Given the description of an element on the screen output the (x, y) to click on. 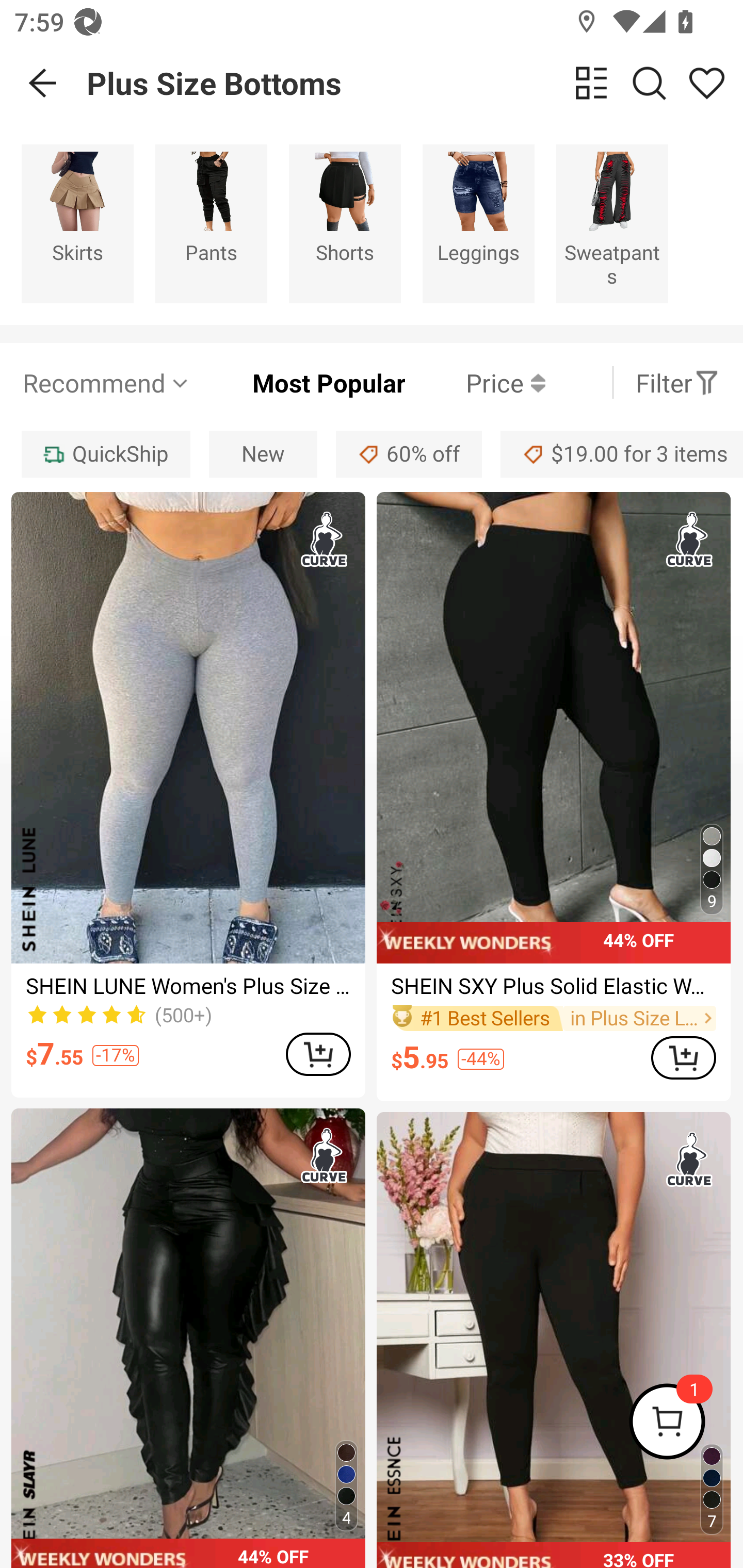
Plus Size Bottoms change view Search Share (414, 82)
change view (591, 82)
Search (648, 82)
Share (706, 82)
Skirts (77, 223)
Pants (211, 223)
Shorts (345, 223)
Leggings (478, 223)
Sweatpants (611, 223)
Recommend (106, 382)
Most Popular (297, 382)
Price (474, 382)
Filter (677, 382)
QuickShip (105, 454)
New (262, 454)
60% off (408, 454)
$19.00 for 3 items (621, 454)
#1 Best Sellers in Plus Size Leggings (553, 1018)
ADD TO CART (318, 1054)
ADD TO CART (683, 1057)
